Given the description of an element on the screen output the (x, y) to click on. 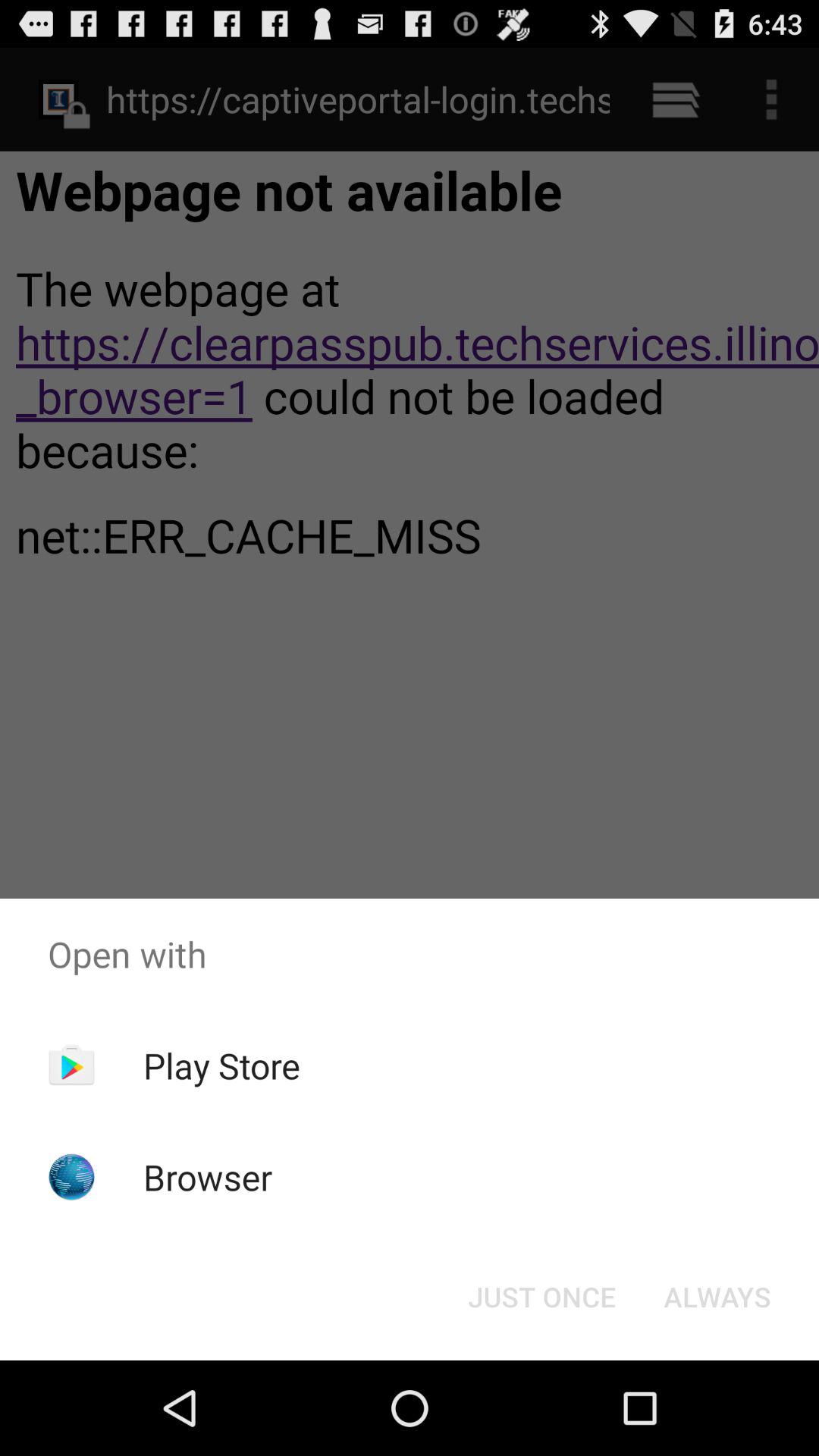
turn on the item next to the always button (541, 1296)
